Given the description of an element on the screen output the (x, y) to click on. 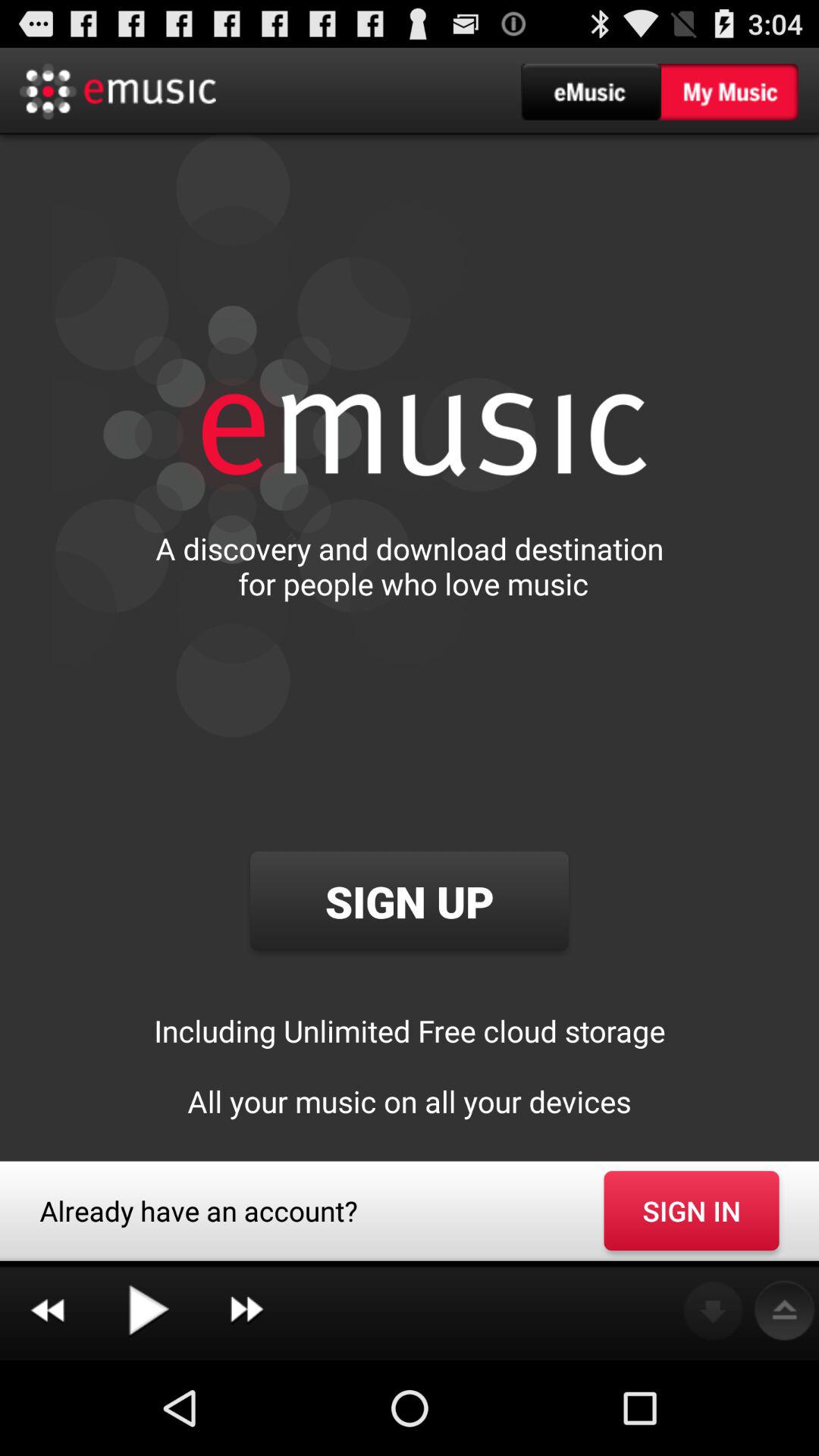
launch the icon below already have an icon (246, 1311)
